Given the description of an element on the screen output the (x, y) to click on. 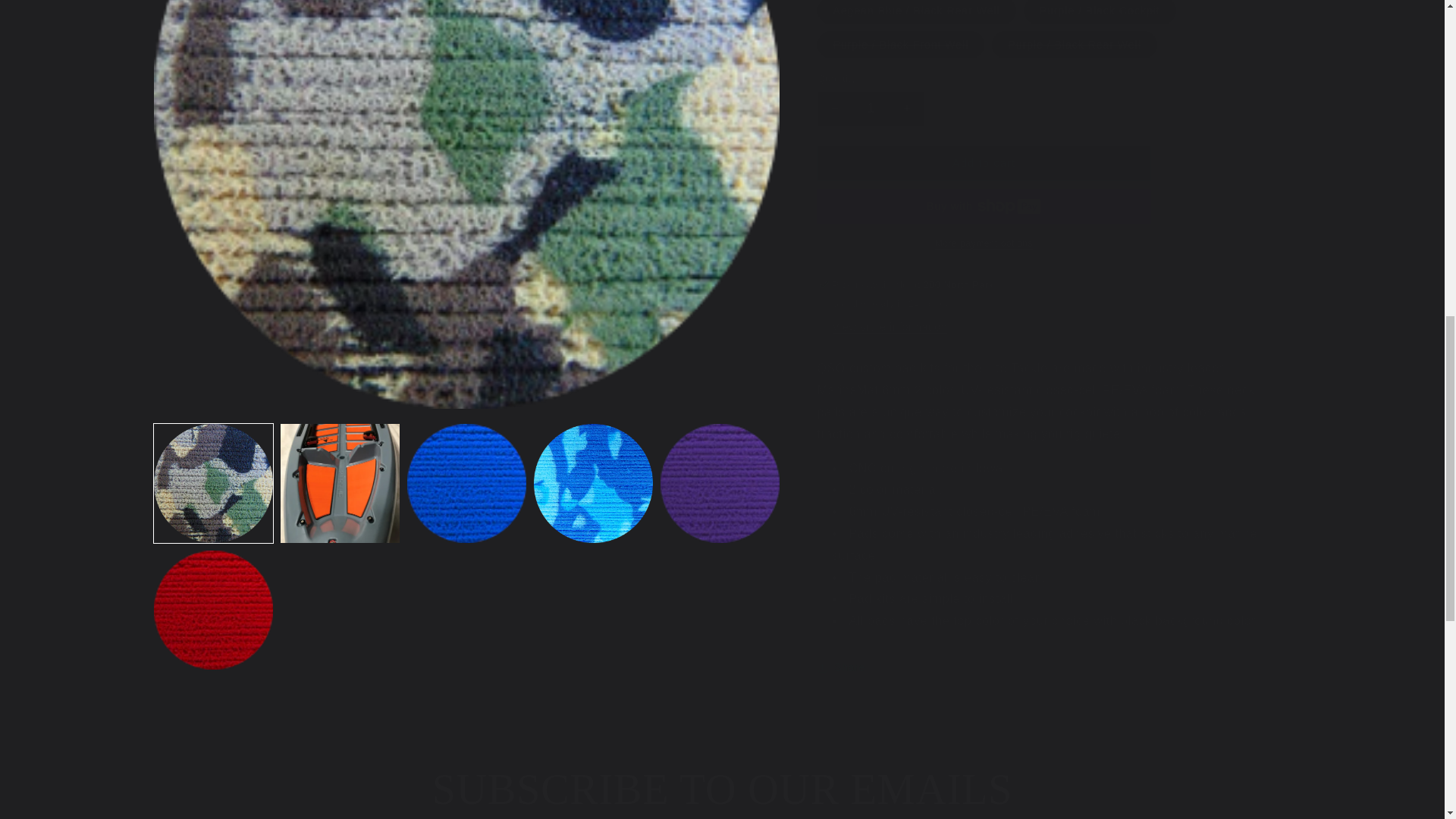
SUBSCRIBE TO OUR EMAILS (721, 788)
Open media 1 in modal (465, 11)
1 (870, 96)
